Given the description of an element on the screen output the (x, y) to click on. 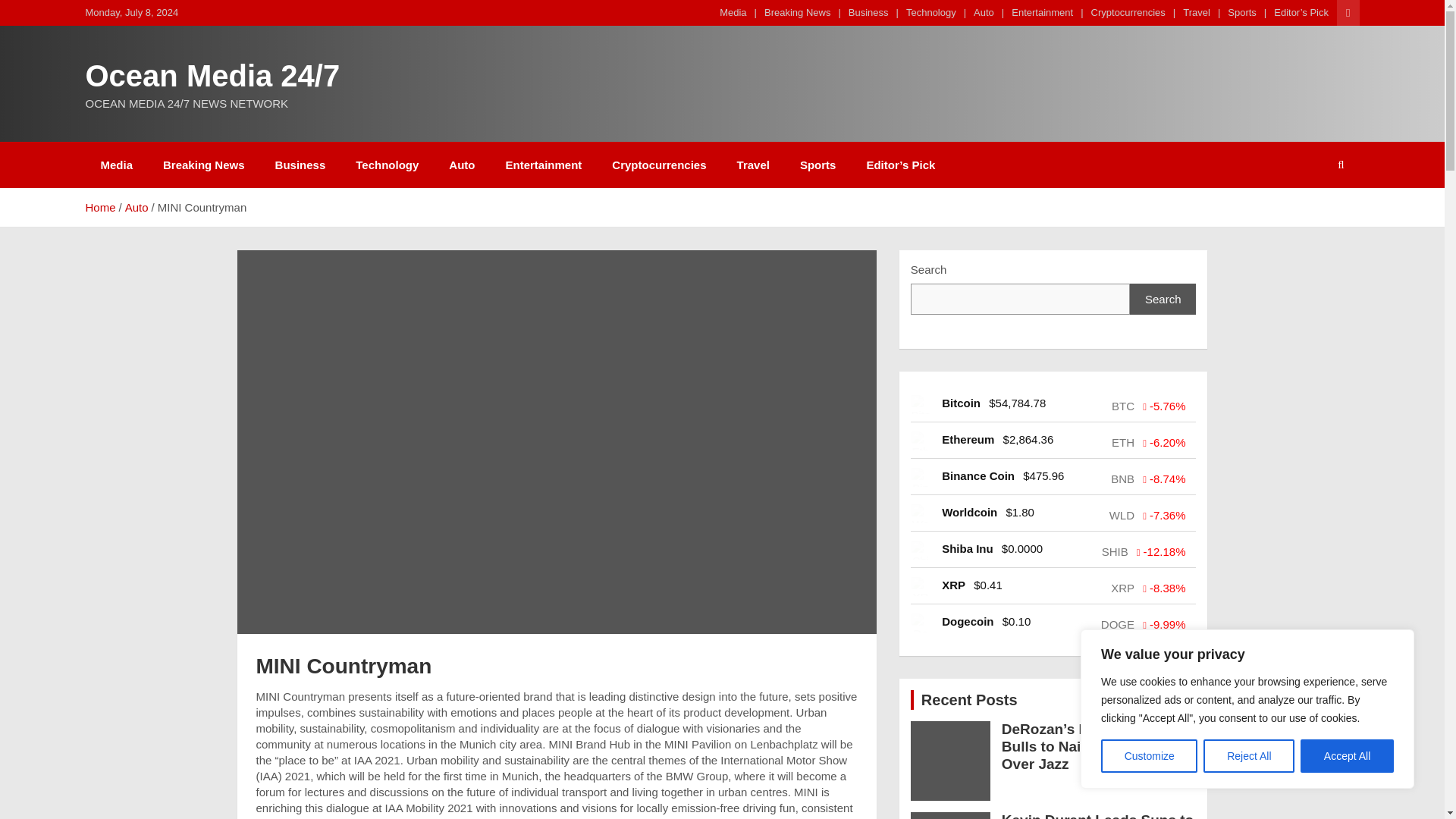
Business (868, 12)
Reject All (1249, 756)
Media (732, 12)
Accept All (1346, 756)
Cryptocurrencies (658, 164)
Business (300, 164)
Media (116, 164)
Breaking News (204, 164)
Technology (930, 12)
Auto (984, 12)
